Given the description of an element on the screen output the (x, y) to click on. 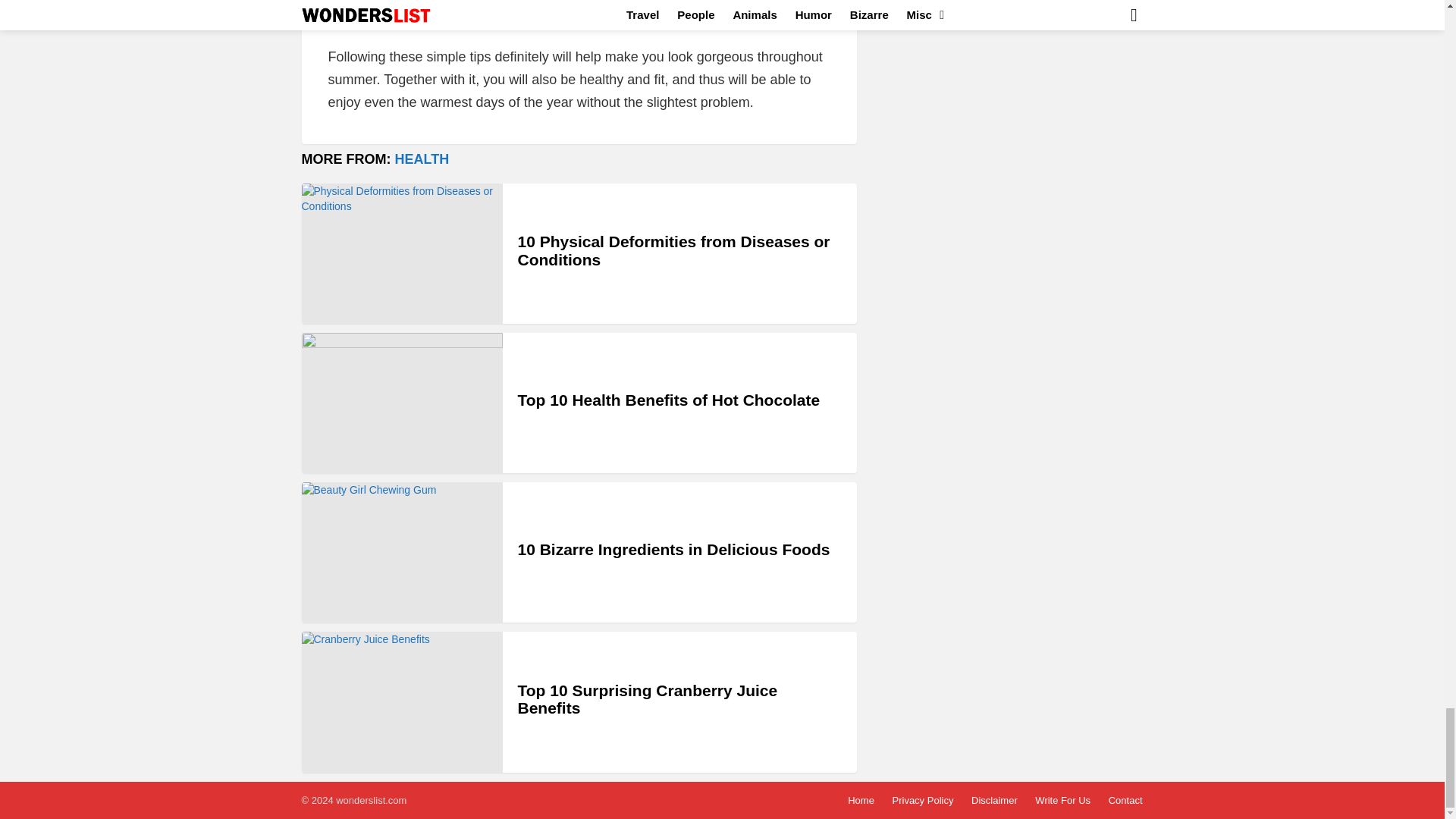
10 Physical Deformities from Diseases or Conditions (401, 253)
Top 10 Surprising Cranberry Juice Benefits (401, 701)
10 Bizarre Ingredients in Delicious Foods (401, 552)
Top 10 Health Benefits of Hot Chocolate (401, 402)
